Given the description of an element on the screen output the (x, y) to click on. 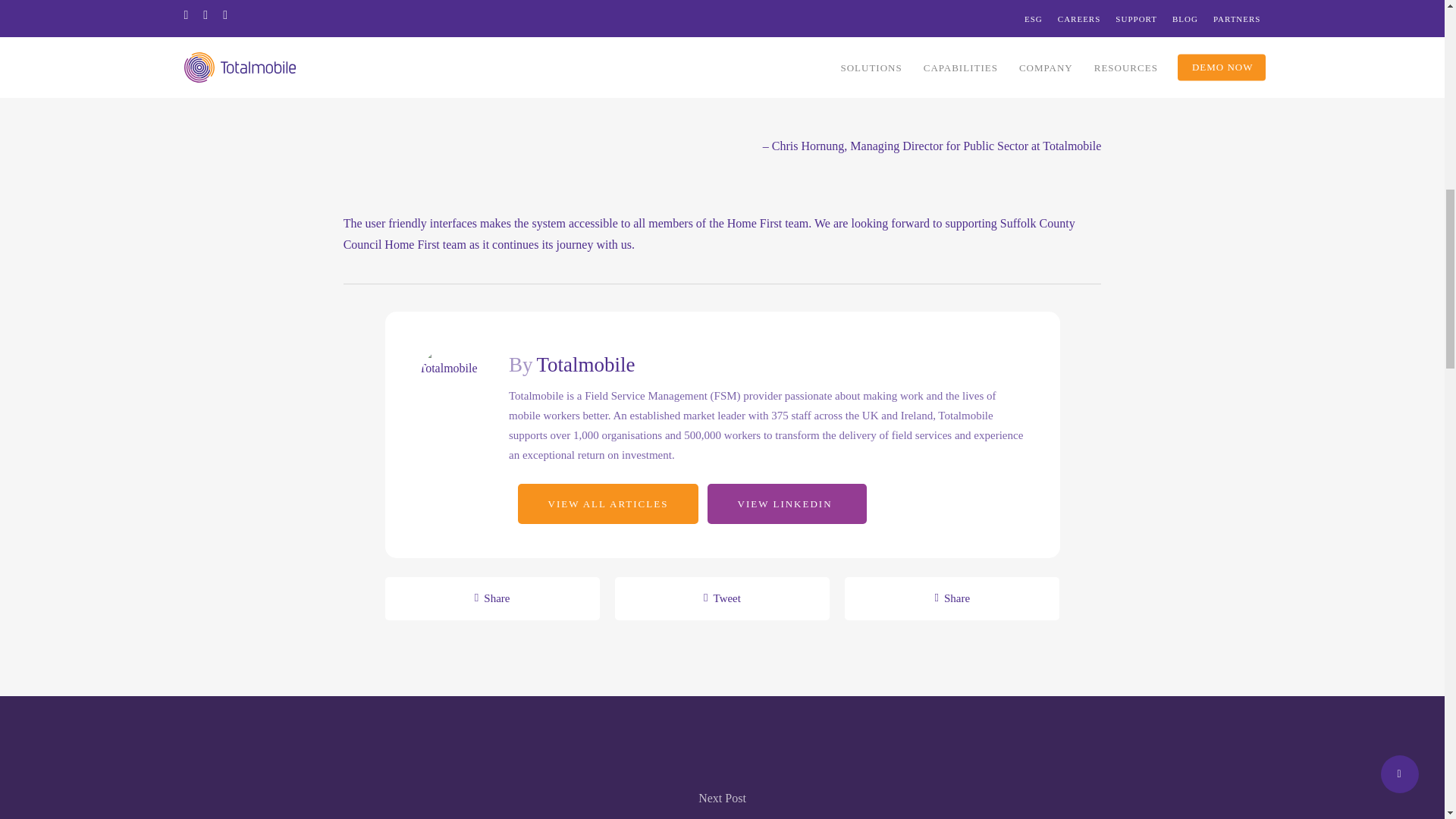
Tweet this (721, 597)
Share this (492, 597)
Share this (951, 597)
